Given the description of an element on the screen output the (x, y) to click on. 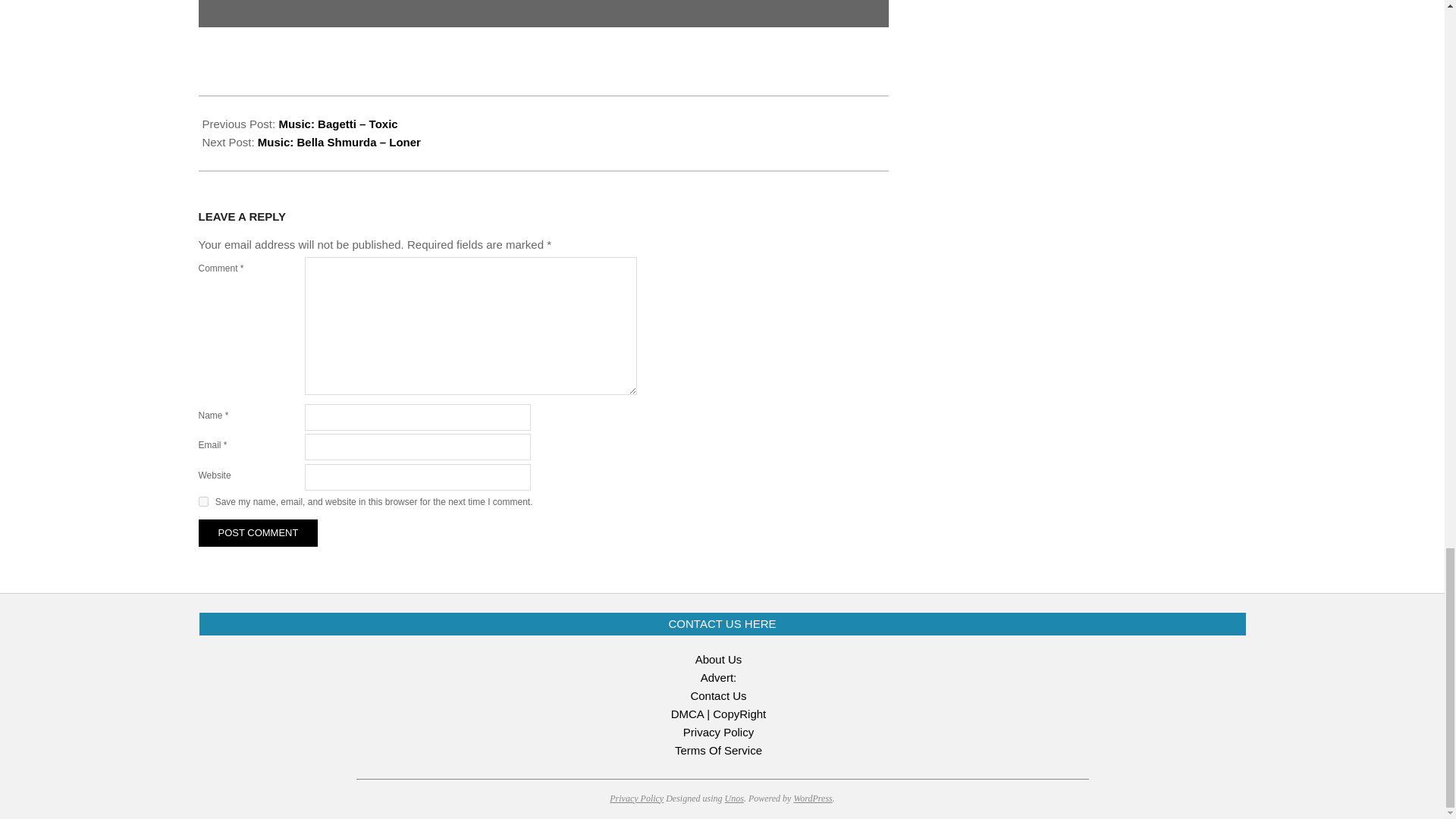
Unos WordPress Theme (734, 798)
Post Comment (258, 533)
yes (203, 501)
Post Comment (258, 533)
